Given the description of an element on the screen output the (x, y) to click on. 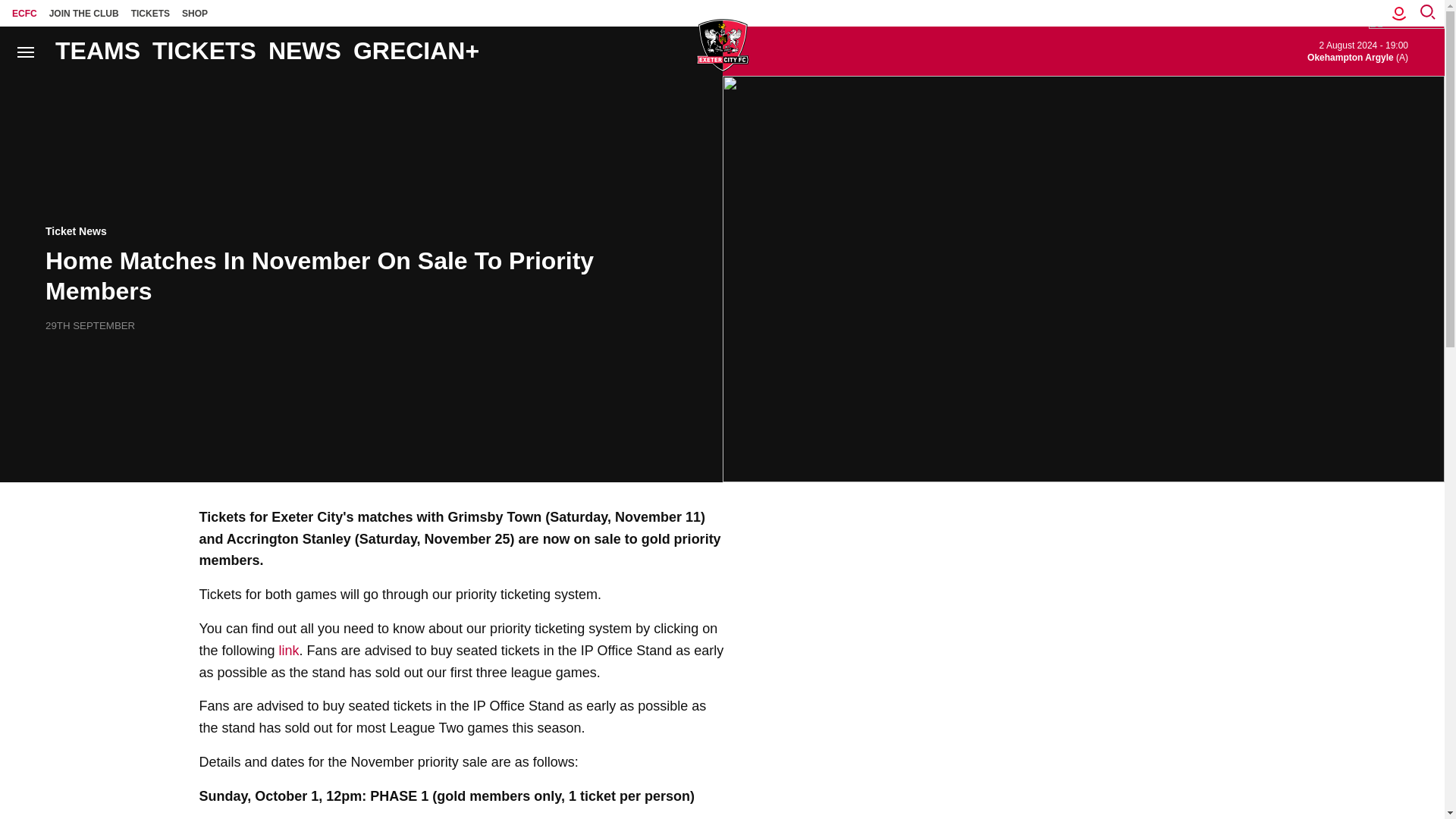
SHOP (195, 13)
ECFC (24, 13)
JOIN THE CLUB (84, 13)
TICKETS (150, 13)
